Given the description of an element on the screen output the (x, y) to click on. 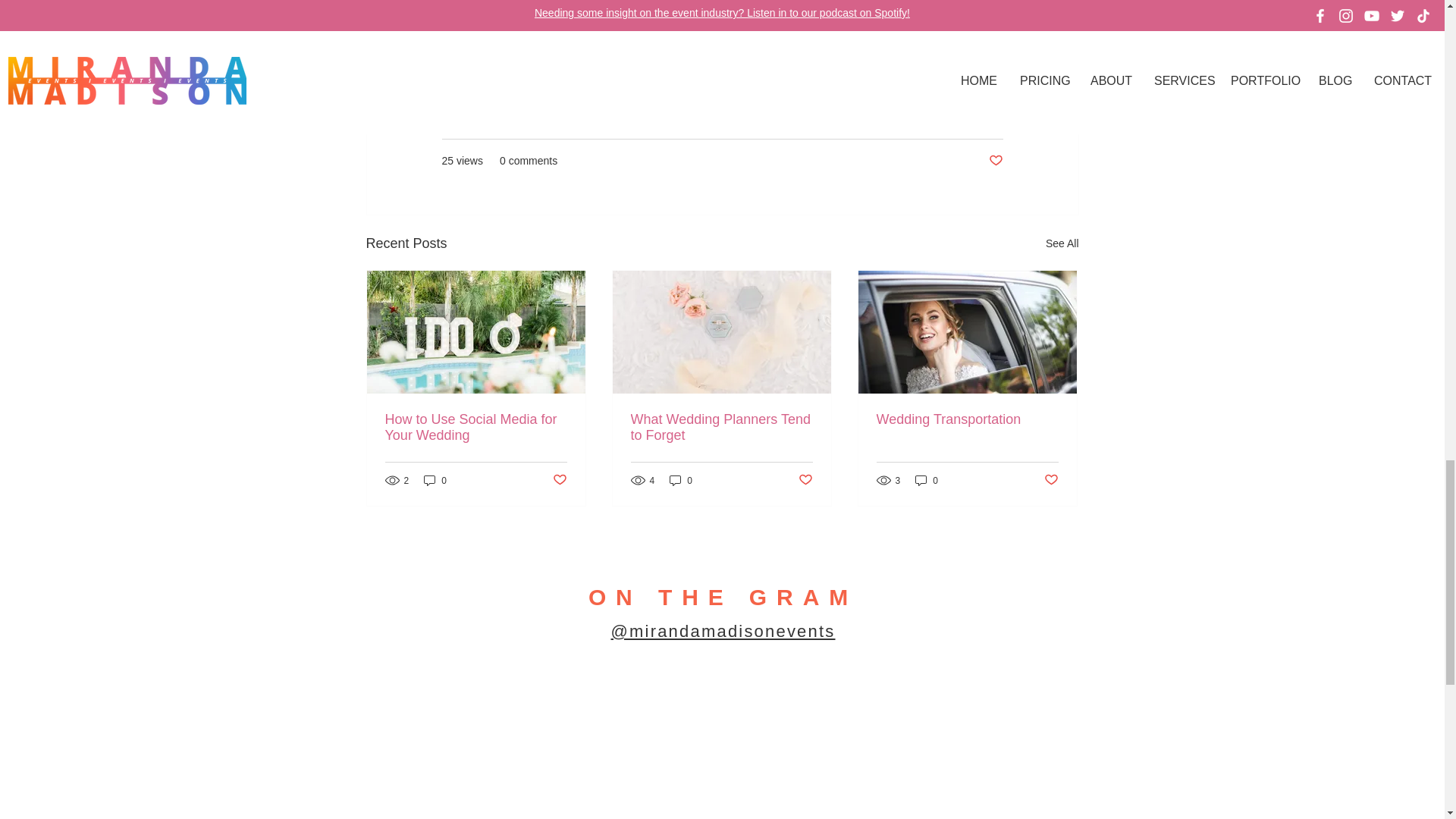
How to Use Social Media for Your Wedding (476, 427)
Post not marked as liked (804, 480)
0 (681, 480)
Post not marked as liked (1050, 480)
Post not marked as liked (558, 480)
0 (926, 480)
0 (435, 480)
See All (1061, 243)
Post not marked as liked (995, 160)
What Wedding Planners Tend to Forget (721, 427)
